Given the description of an element on the screen output the (x, y) to click on. 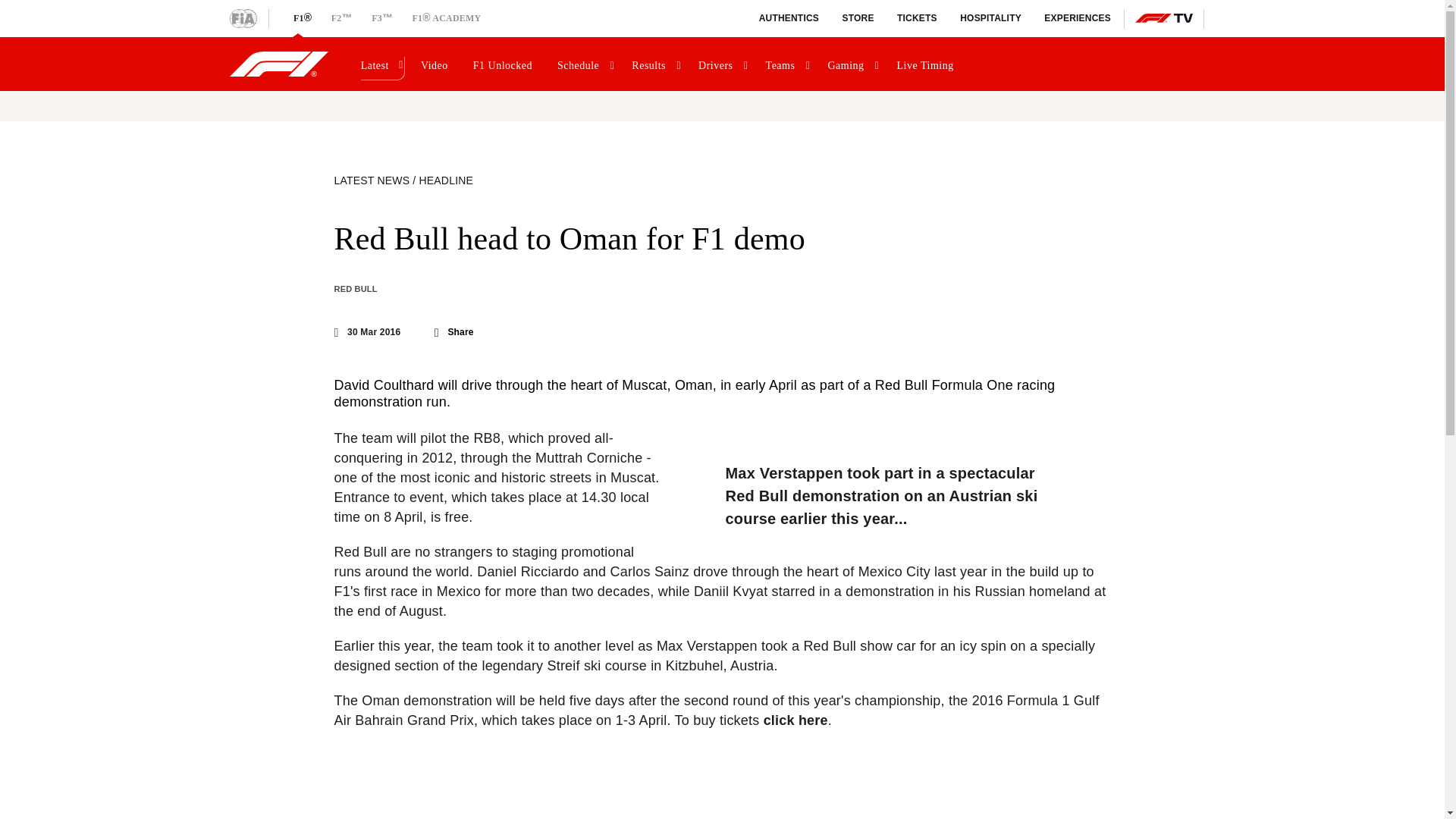
Video (436, 63)
Schedule (584, 63)
Drivers (721, 63)
F1 Unlocked (505, 63)
Facebook (403, 332)
Twitter (379, 332)
Latest (380, 63)
Results (654, 63)
